Given the description of an element on the screen output the (x, y) to click on. 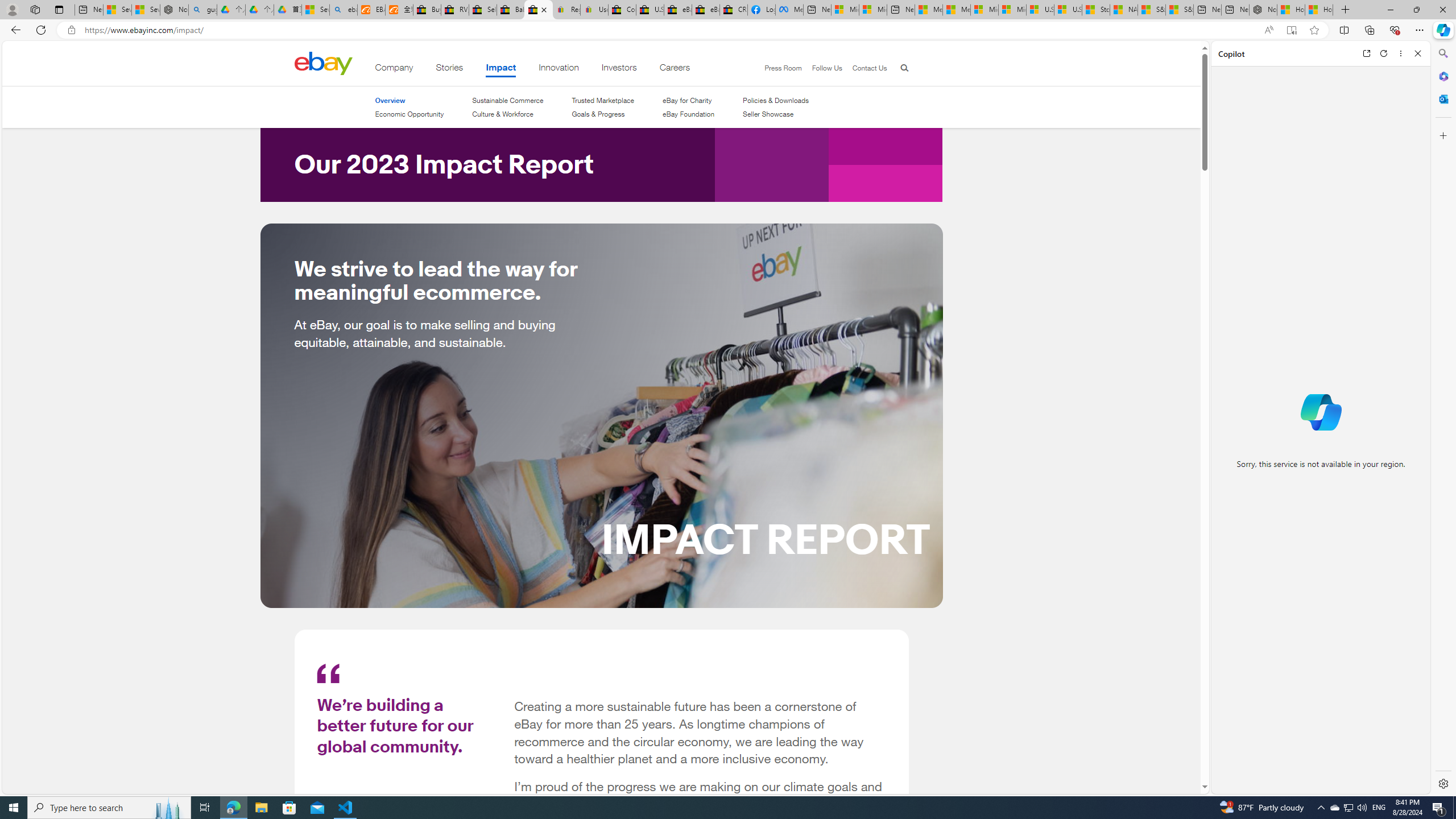
RV, Trailer & Camper Steps & Ladders for sale | eBay (454, 9)
View site information (70, 29)
Back (13, 29)
eBay seller Malena Martinez organizes vintage fashion items. (601, 415)
Microsoft account | Privacy (872, 9)
U.S. State Privacy Disclosures - eBay Inc. (649, 9)
Seller Showcase (775, 113)
Settings (1442, 783)
Buy Auto Parts & Accessories | eBay (426, 9)
Close (1417, 53)
Microsoft 365 (1442, 76)
Search (1442, 53)
